Given the description of an element on the screen output the (x, y) to click on. 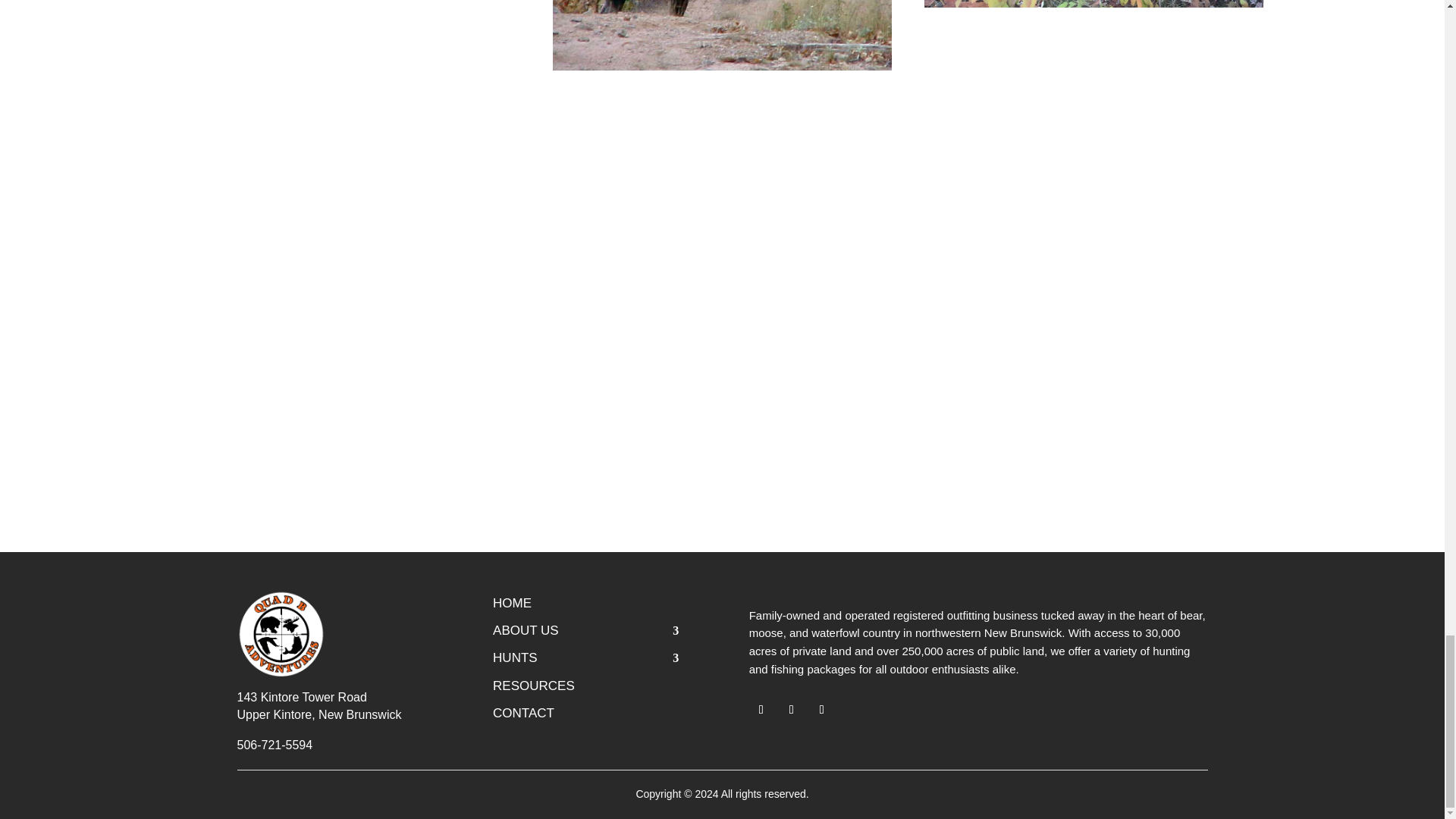
hunting 46 (722, 35)
HOME (585, 606)
ABOUT US (585, 633)
